Given the description of an element on the screen output the (x, y) to click on. 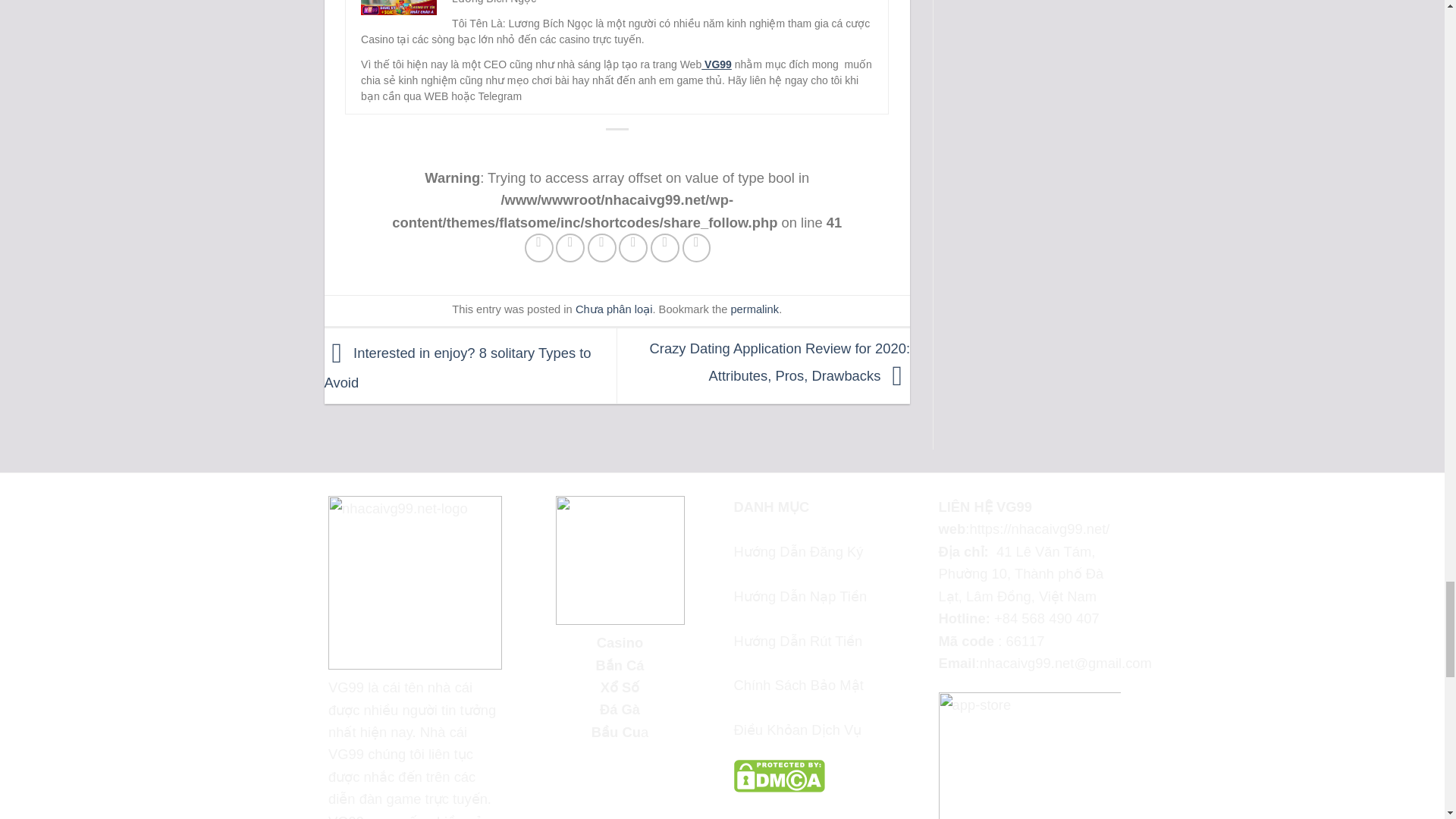
Interested in enjoy? 8 solitary Types to Avoid (457, 366)
VG99 (716, 64)
DMCA.com Protection Status (779, 774)
permalink (754, 309)
